Given the description of an element on the screen output the (x, y) to click on. 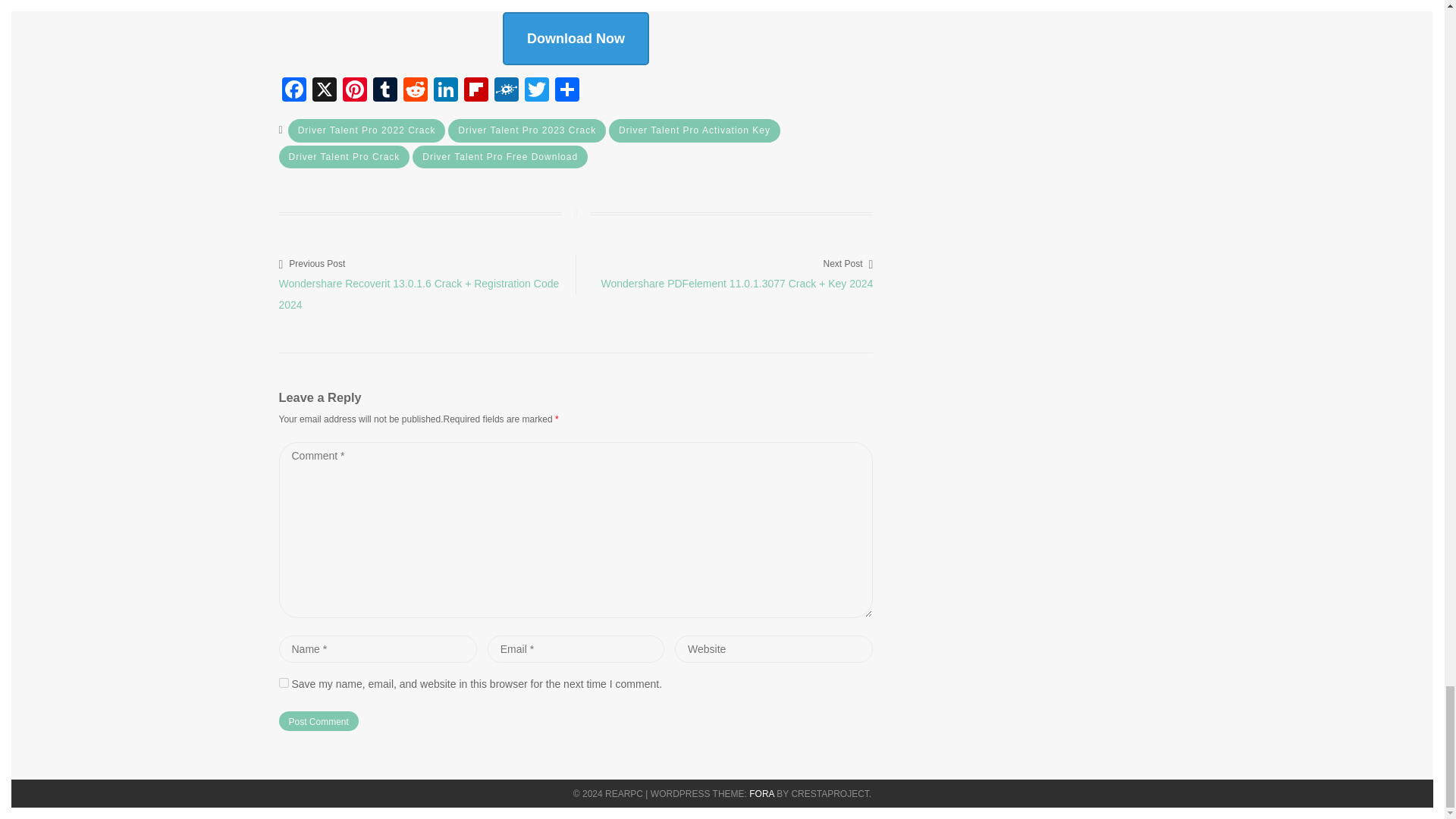
Fora Theme (761, 793)
Reddit (415, 90)
Facebook (293, 90)
Flipboard (476, 90)
X (323, 90)
LinkedIn (445, 90)
Post Comment (318, 721)
Tumblr (384, 90)
Pinterest (354, 90)
Twitter (536, 90)
Folkd (506, 90)
yes (283, 682)
